Given the description of an element on the screen output the (x, y) to click on. 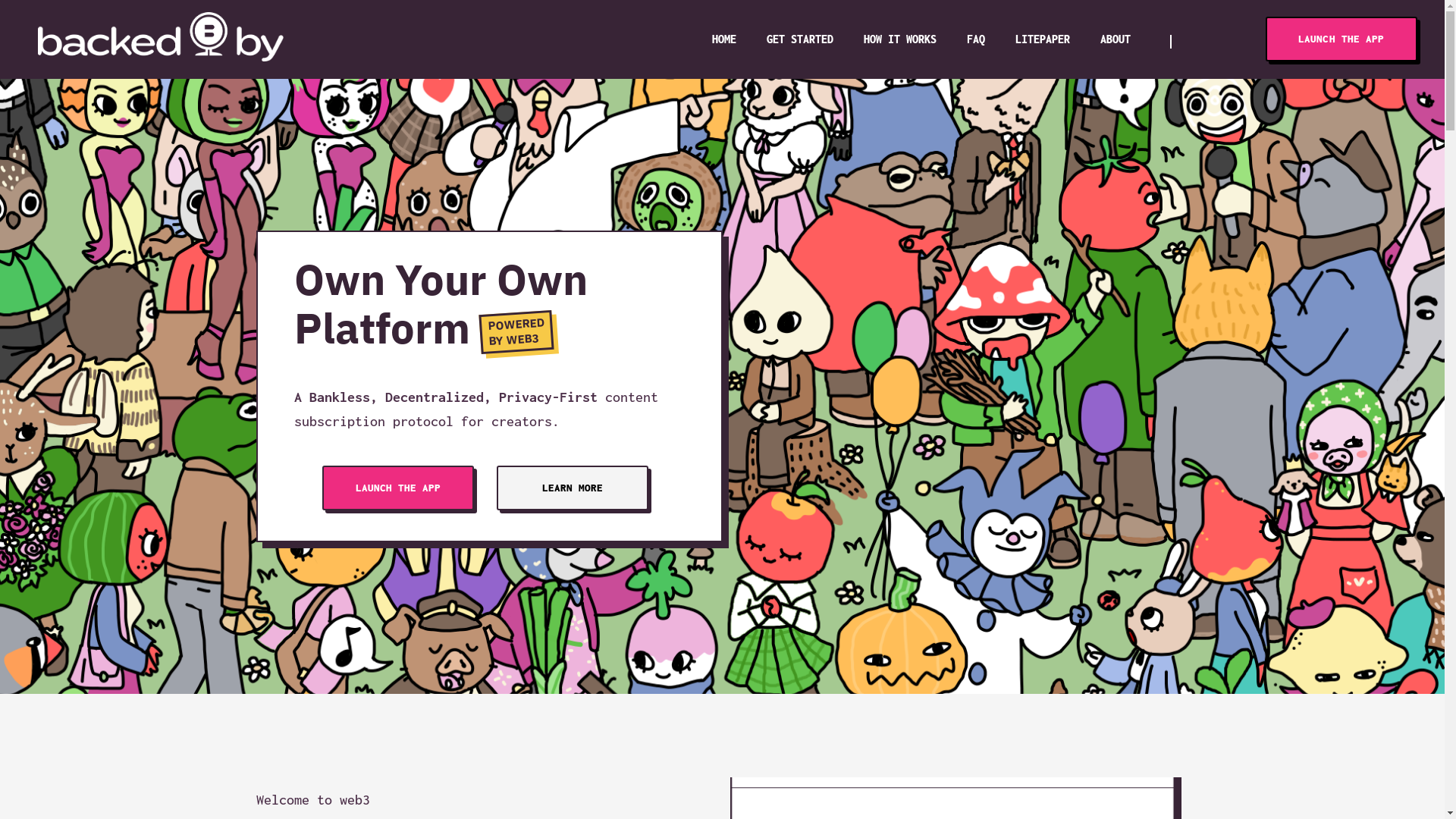
FAQ Element type: text (975, 38)
LAUNCH THE APP Element type: text (397, 487)
HOW IT WORKS Element type: text (899, 38)
GET STARTED Element type: text (799, 38)
ABOUT Element type: text (1115, 38)
LAUNCH THE APP Element type: text (1341, 38)
LITEPAPER Element type: text (1042, 38)
LEARN MORE Element type: text (572, 487)
HOME Element type: text (723, 38)
